Given the description of an element on the screen output the (x, y) to click on. 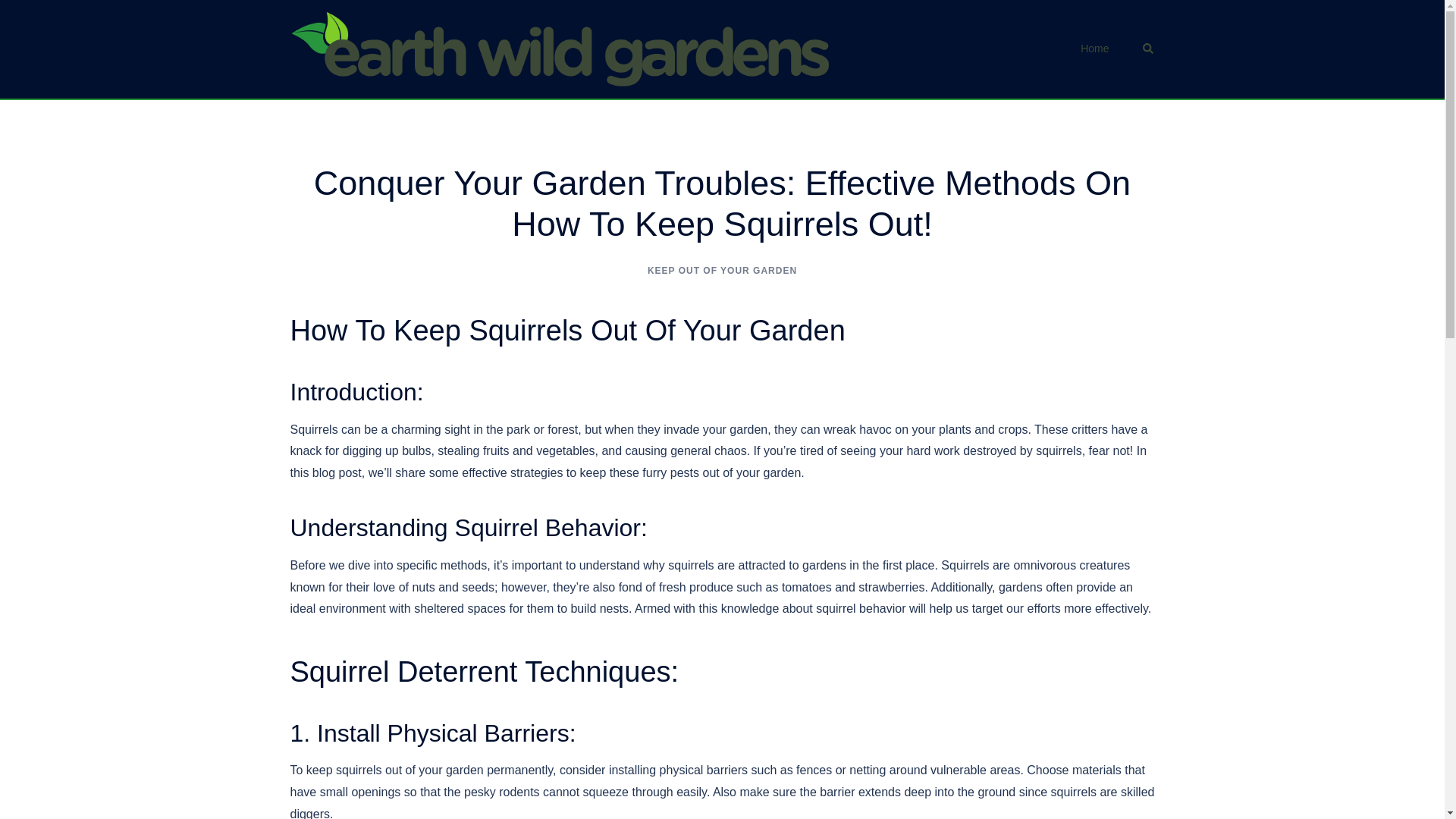
Search (1147, 49)
Earth Wild Gardens (559, 47)
Home (1094, 48)
KEEP OUT OF YOUR GARDEN (721, 270)
